Given the description of an element on the screen output the (x, y) to click on. 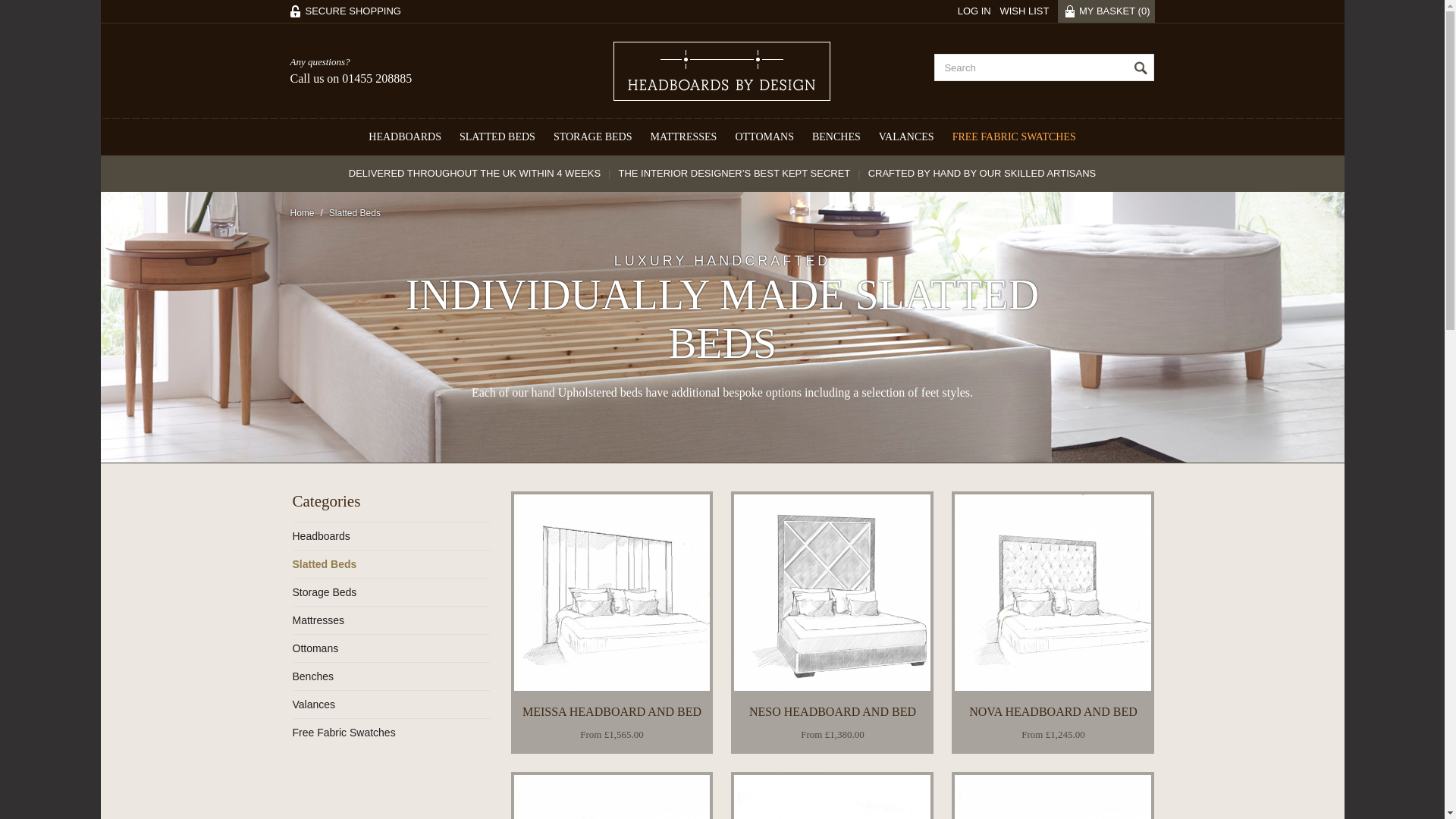
OTTOMANS (764, 136)
Nova Headboard and Bed (1053, 592)
Peony Headboard and Bed (1053, 796)
FREE FABRIC SWATCHES (1013, 136)
VALANCES (906, 136)
Neso Headboard and  Bed (831, 592)
BENCHES (836, 136)
HEADBOARDS (404, 136)
Headboards By Design (720, 70)
STORAGE BEDS (593, 136)
